Given the description of an element on the screen output the (x, y) to click on. 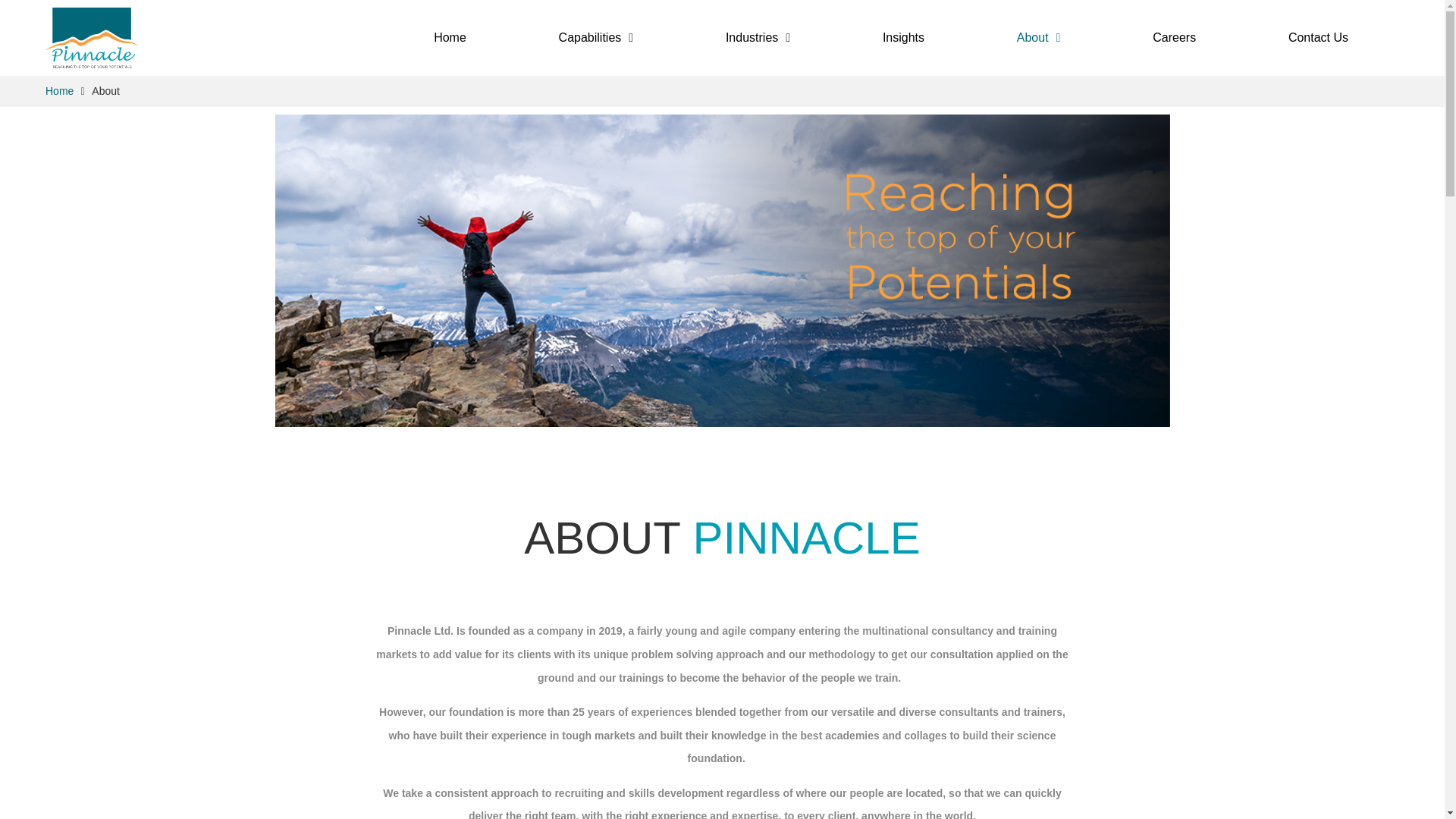
Contact Us (1317, 37)
Insights (903, 37)
Industries (757, 37)
Home (59, 91)
Careers (1173, 37)
Home (59, 91)
Capabilities (595, 37)
Home (449, 37)
About (1038, 37)
